Given the description of an element on the screen output the (x, y) to click on. 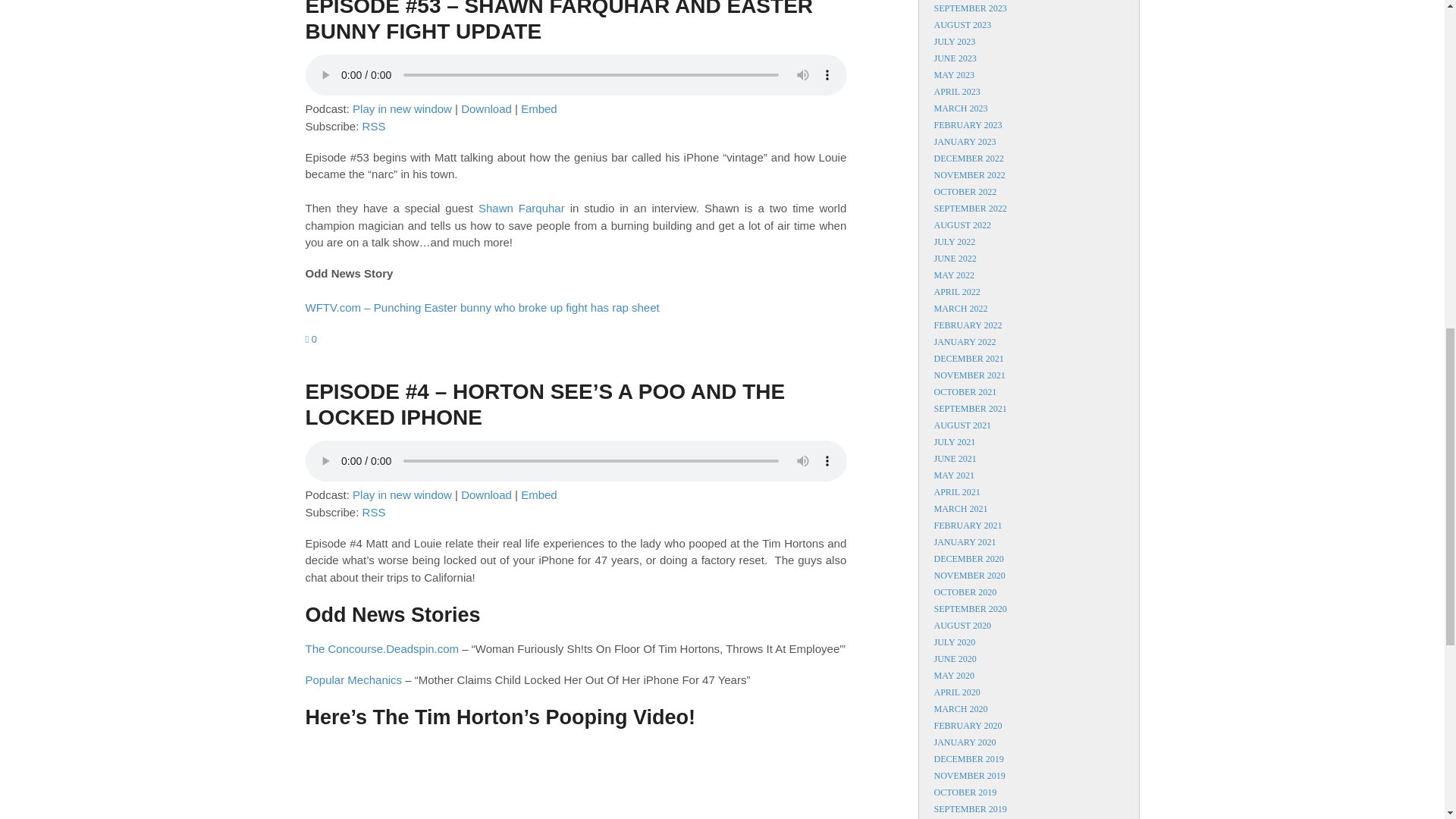
Play in new window (401, 108)
Play in new window (401, 108)
Download (486, 108)
Embed (539, 108)
RSS (373, 125)
Shawn Farquhar (521, 207)
Embed (539, 108)
Download (486, 108)
